Given the description of an element on the screen output the (x, y) to click on. 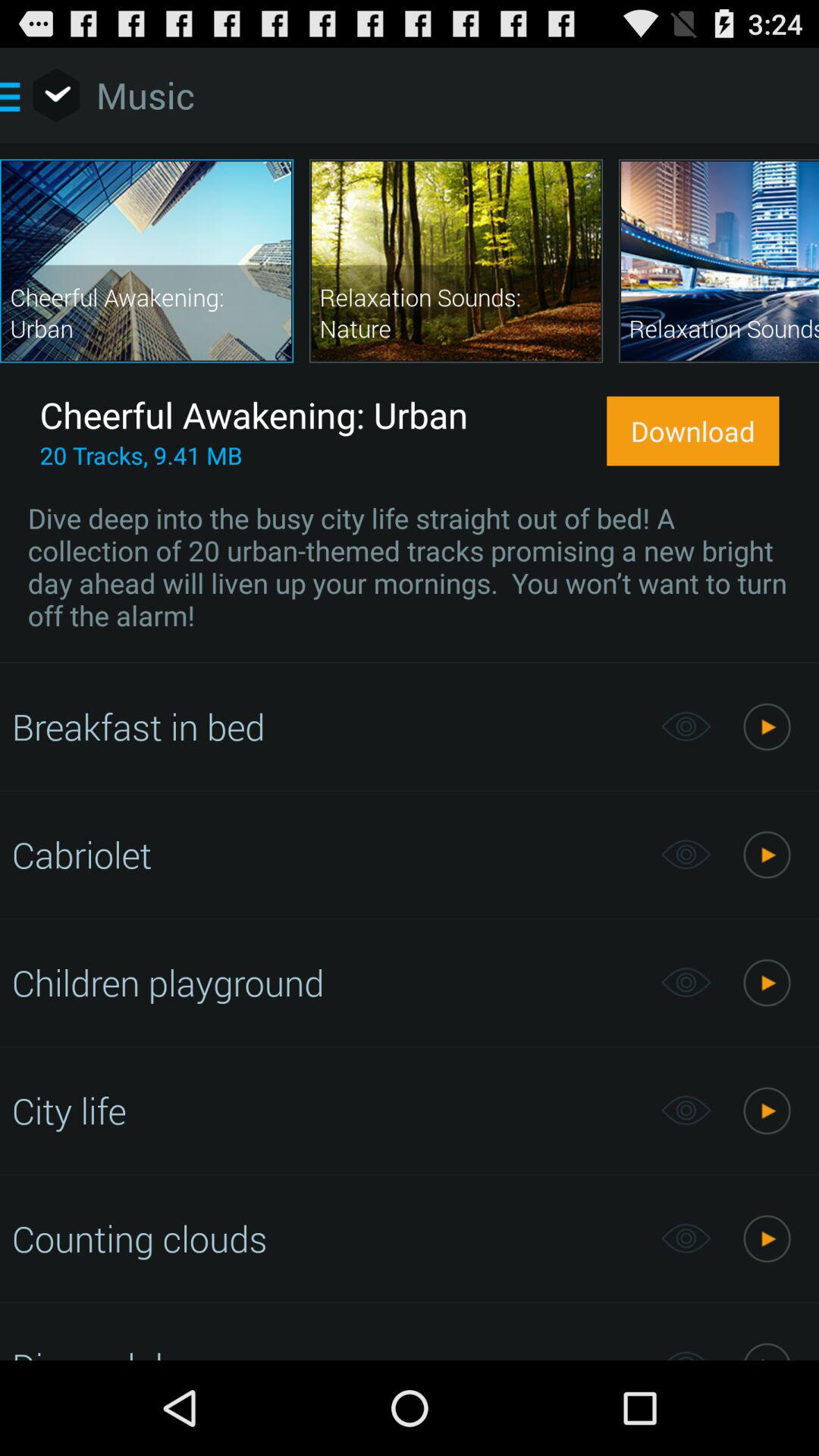
select the item below dive deep into item (327, 726)
